Given the description of an element on the screen output the (x, y) to click on. 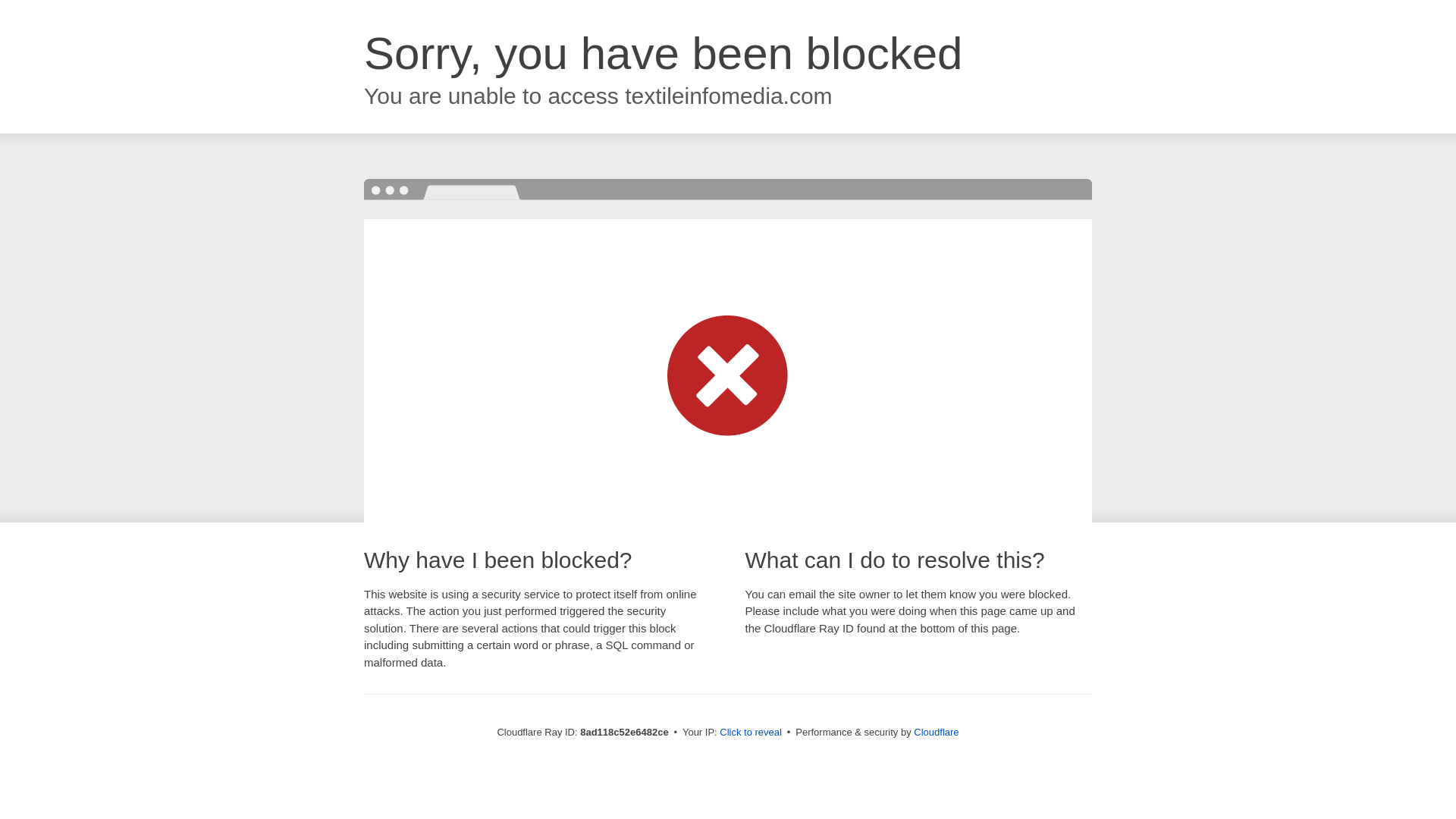
Cloudflare (936, 731)
Click to reveal (750, 732)
